Given the description of an element on the screen output the (x, y) to click on. 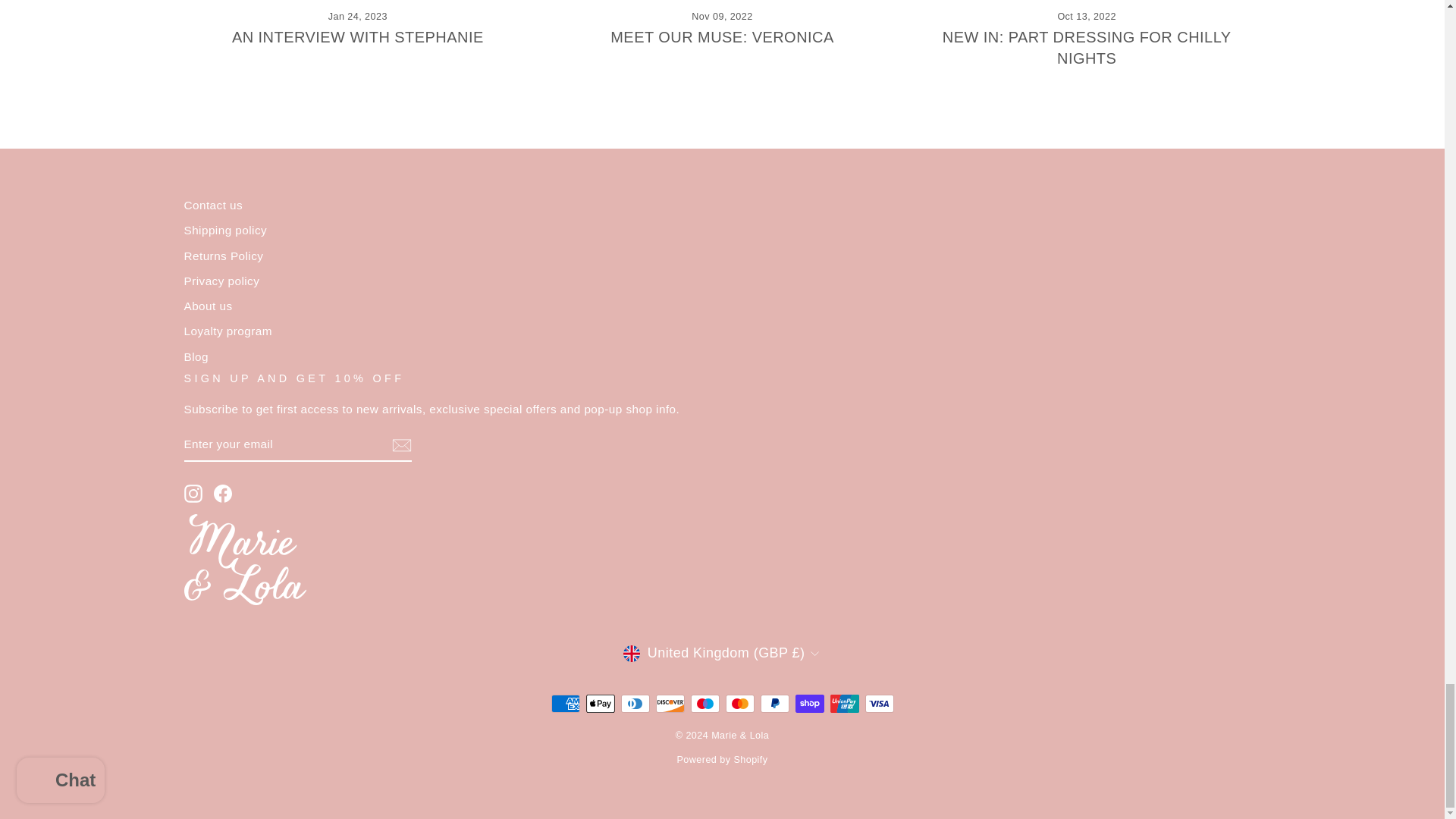
Apple Pay (599, 703)
Mastercard (739, 703)
Discover (669, 703)
American Express (564, 703)
Diners Club (634, 703)
PayPal (774, 703)
Maestro (704, 703)
